Given the description of an element on the screen output the (x, y) to click on. 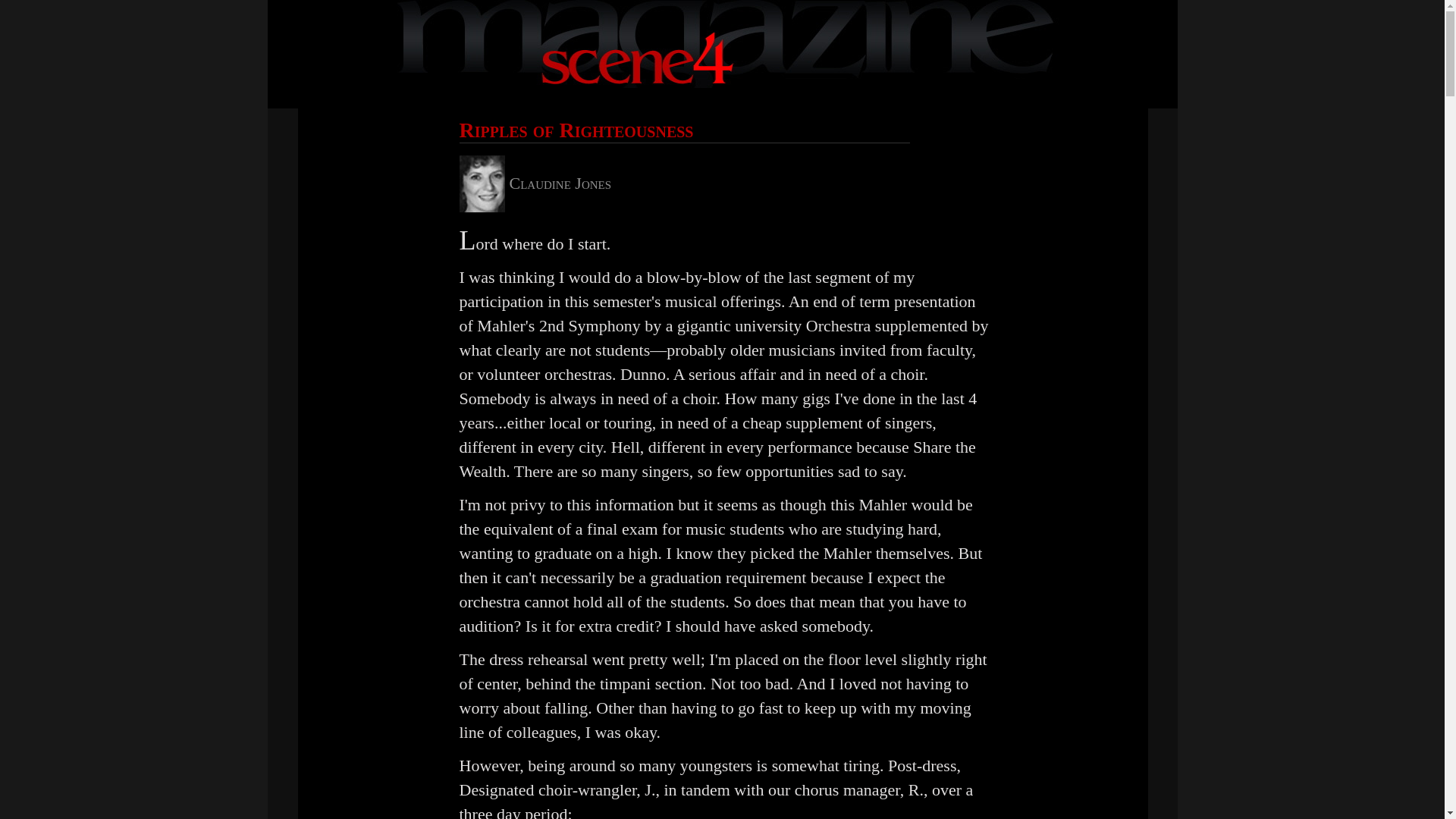
www.scene4.com (726, 43)
